Given the description of an element on the screen output the (x, y) to click on. 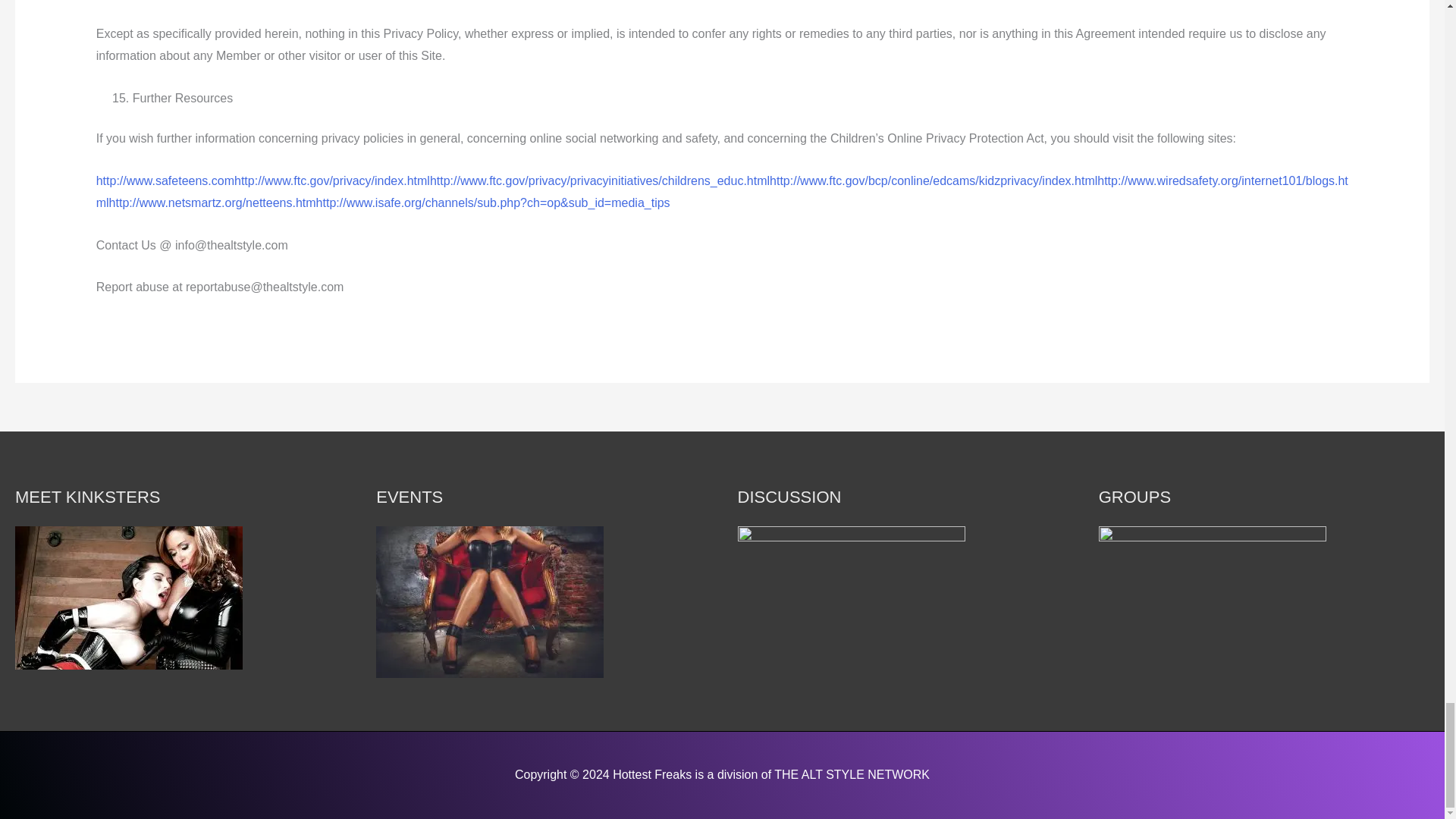
MEET KINKSTERS (128, 597)
EVENTS (489, 602)
DISCUSSION (849, 602)
GROUPS (1212, 599)
